Given the description of an element on the screen output the (x, y) to click on. 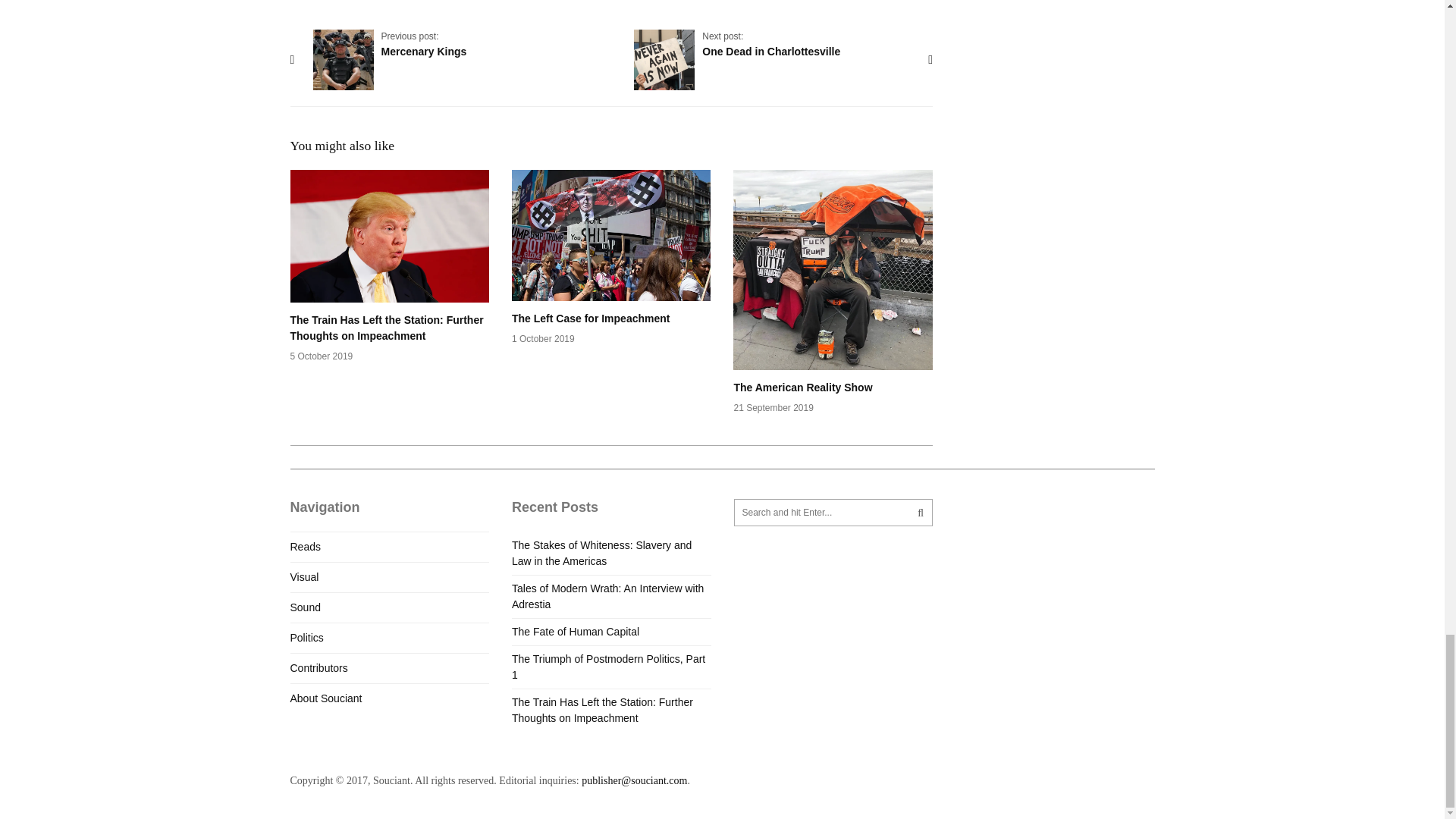
Visual (770, 44)
Politics (303, 576)
Reads (306, 637)
Contributors (304, 546)
The Triumph of Postmodern Politics, Part 1 (318, 667)
Tales of Modern Wrath: An Interview with Adrestia (832, 291)
The Stakes of Whiteness: Slavery and Law in the Americas (608, 666)
About Souciant (607, 596)
Sound (601, 552)
The Fate of Human Capital (325, 698)
